Given the description of an element on the screen output the (x, y) to click on. 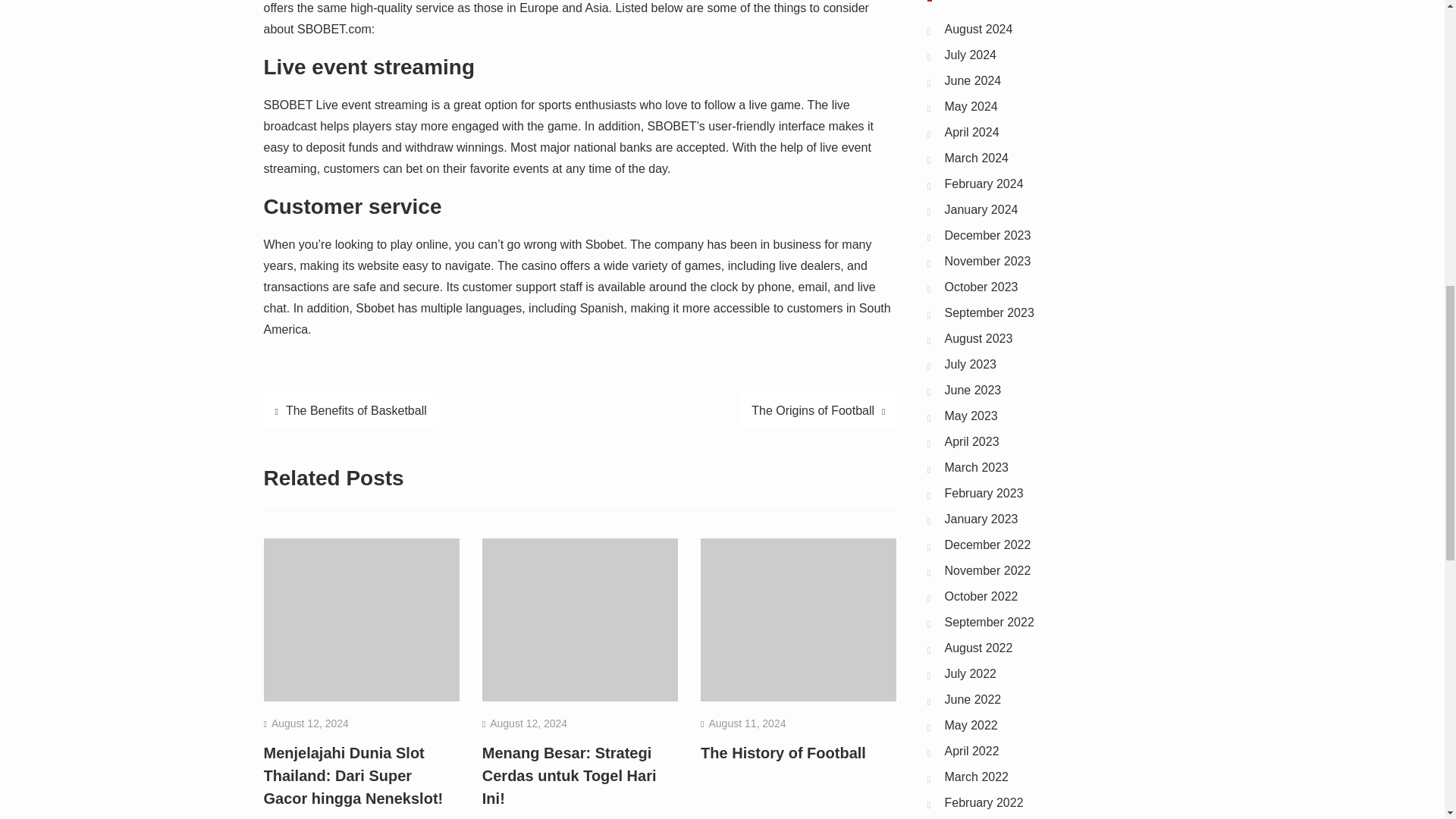
Menang Besar: Strategi Cerdas untuk Togel Hari Ini! (568, 775)
The Benefits of Basketball (350, 411)
The History of Football (783, 752)
The Origins of Football (817, 411)
